Given the description of an element on the screen output the (x, y) to click on. 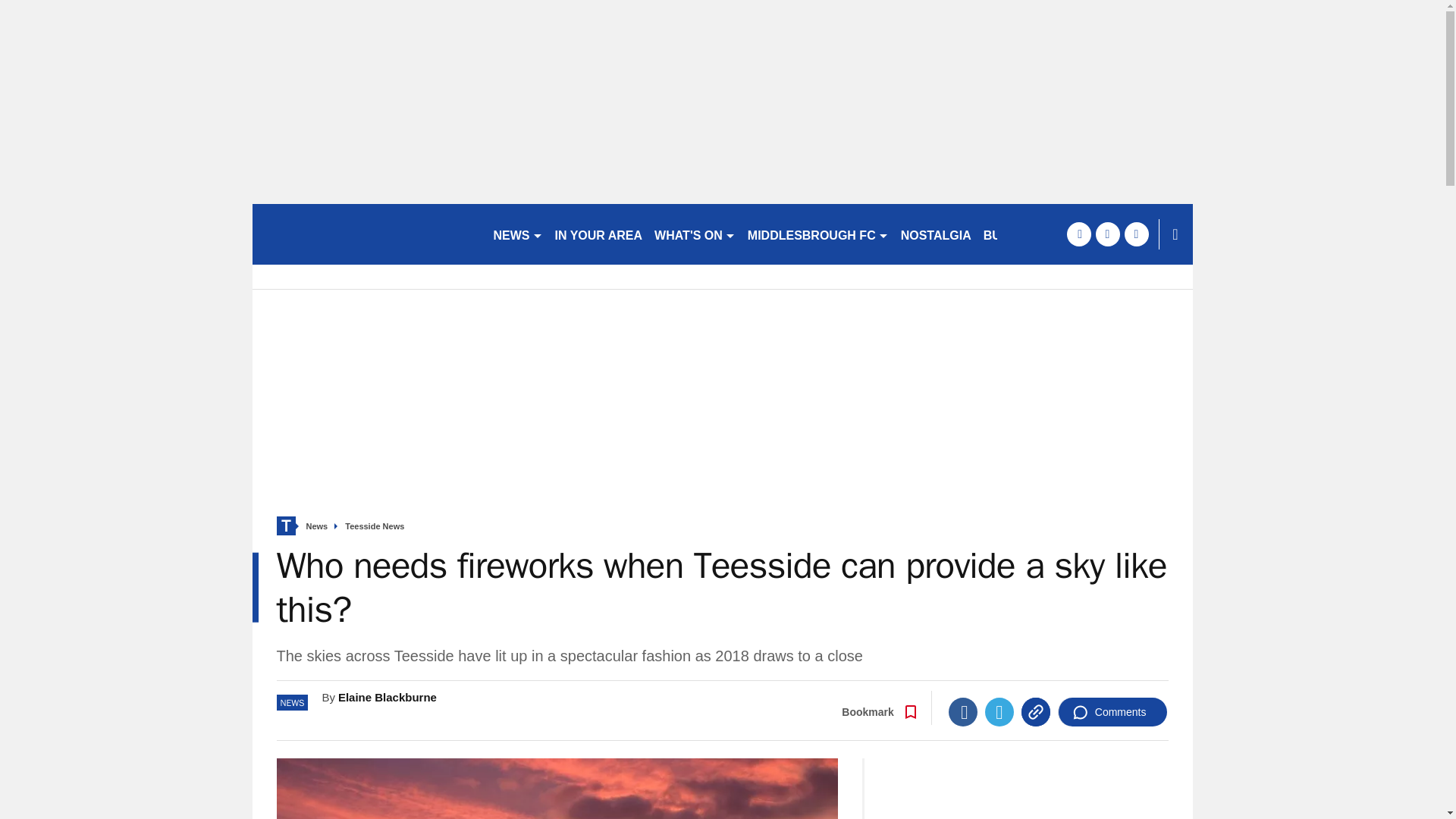
Facebook (962, 711)
IN YOUR AREA (598, 233)
gazettelive (365, 233)
MIDDLESBROUGH FC (818, 233)
WHAT'S ON (694, 233)
twitter (1106, 233)
NEWS (517, 233)
NOSTALGIA (935, 233)
Comments (1112, 711)
facebook (1077, 233)
BUSINESS (1013, 233)
instagram (1136, 233)
Twitter (999, 711)
